Given the description of an element on the screen output the (x, y) to click on. 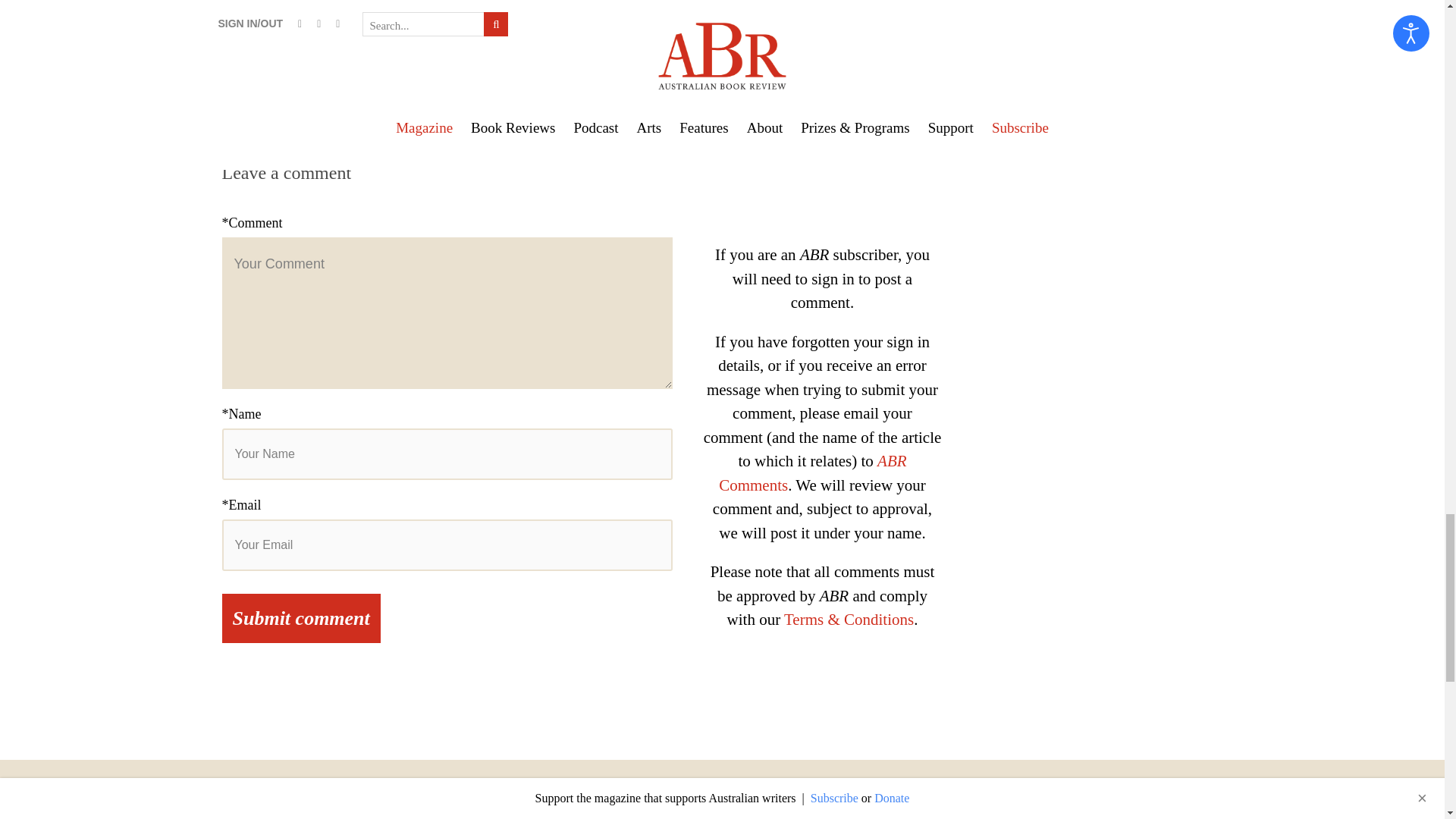
Submit comment (300, 617)
Your Email (446, 544)
Your Name (446, 453)
